Given the description of an element on the screen output the (x, y) to click on. 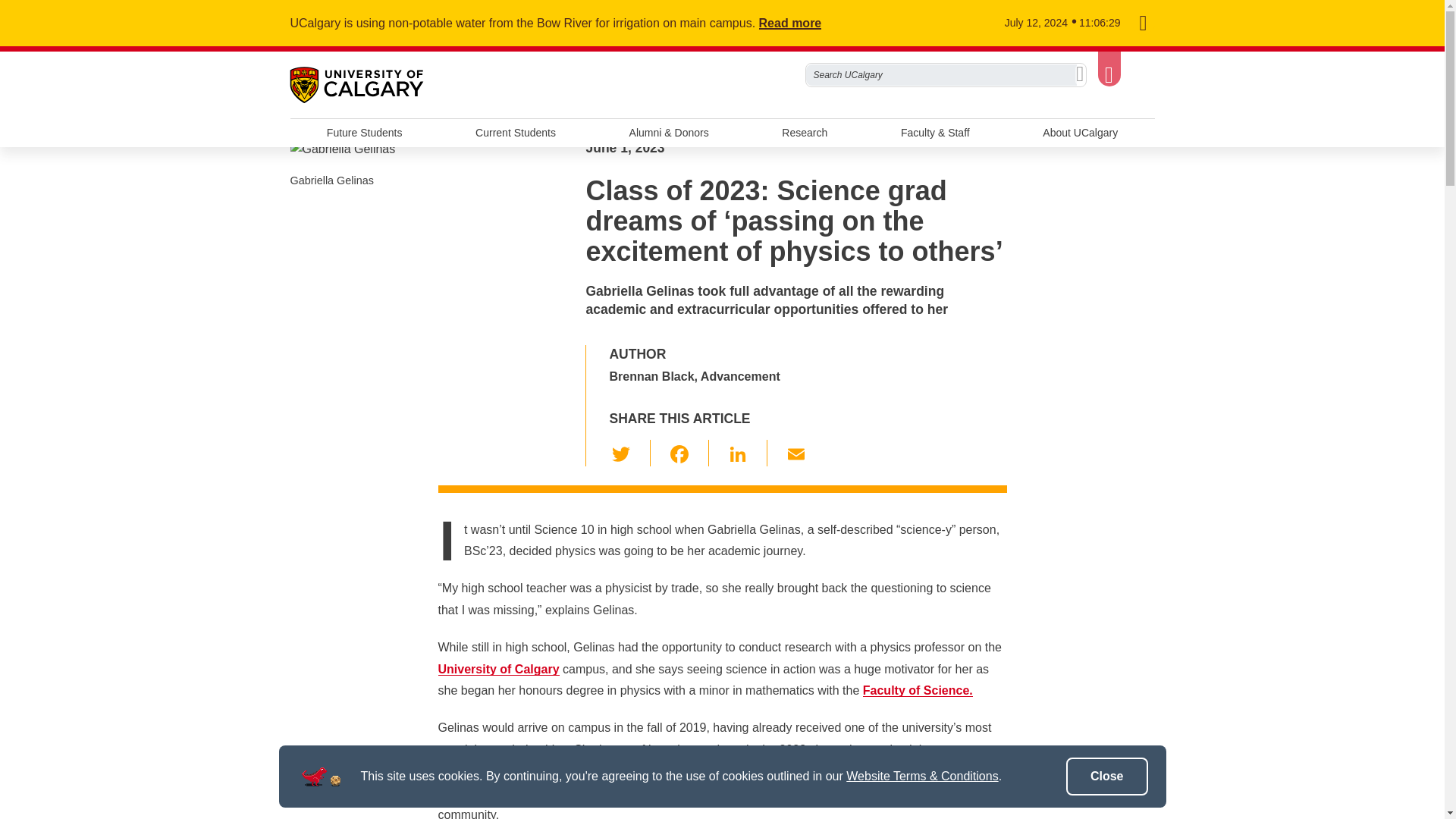
Toggle Toolbox (1109, 65)
Search (1079, 74)
Read more (799, 22)
Toggle Site Alert Message (1142, 23)
Close (1106, 776)
